Given the description of an element on the screen output the (x, y) to click on. 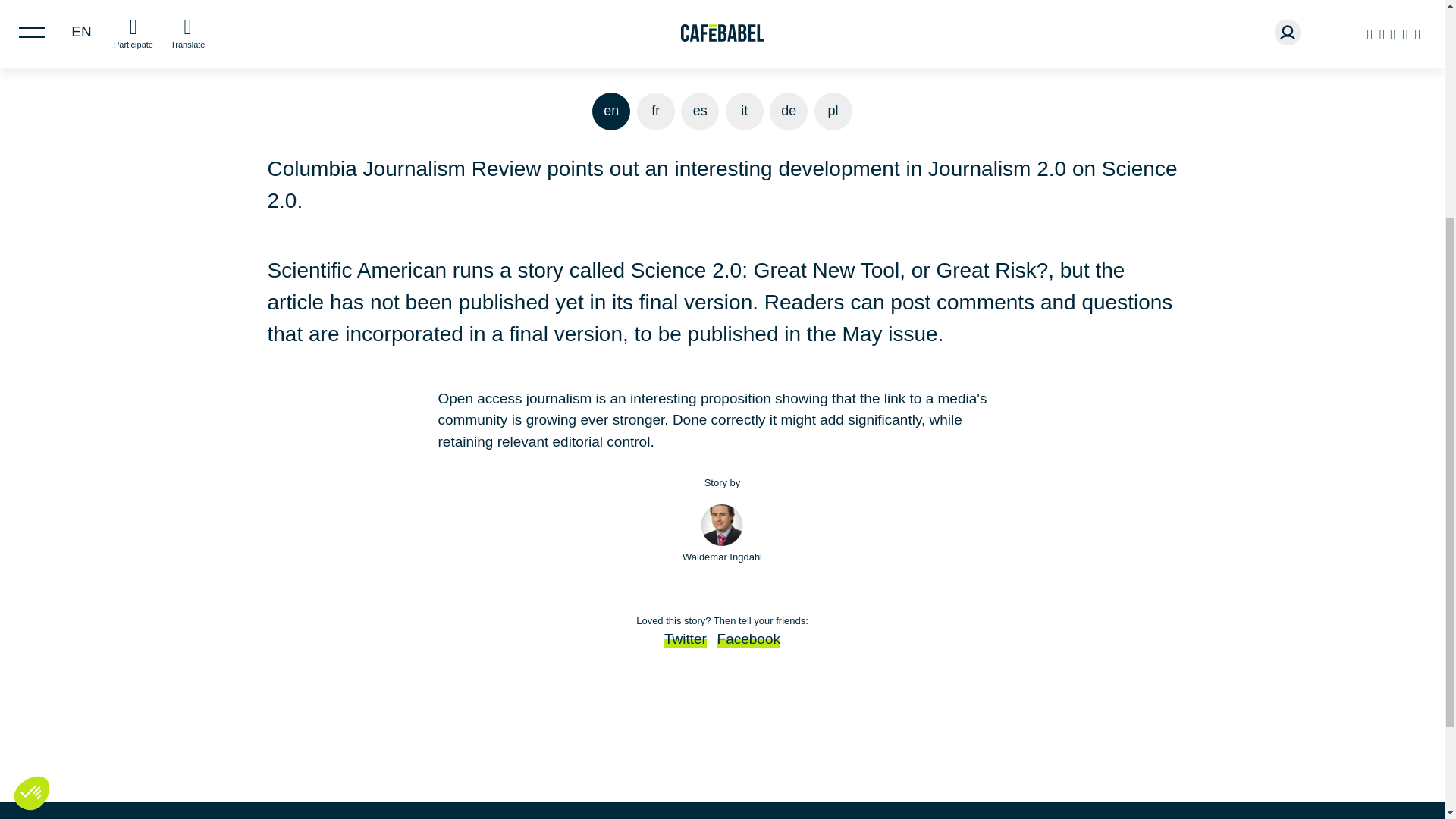
0 (28, 451)
